Given the description of an element on the screen output the (x, y) to click on. 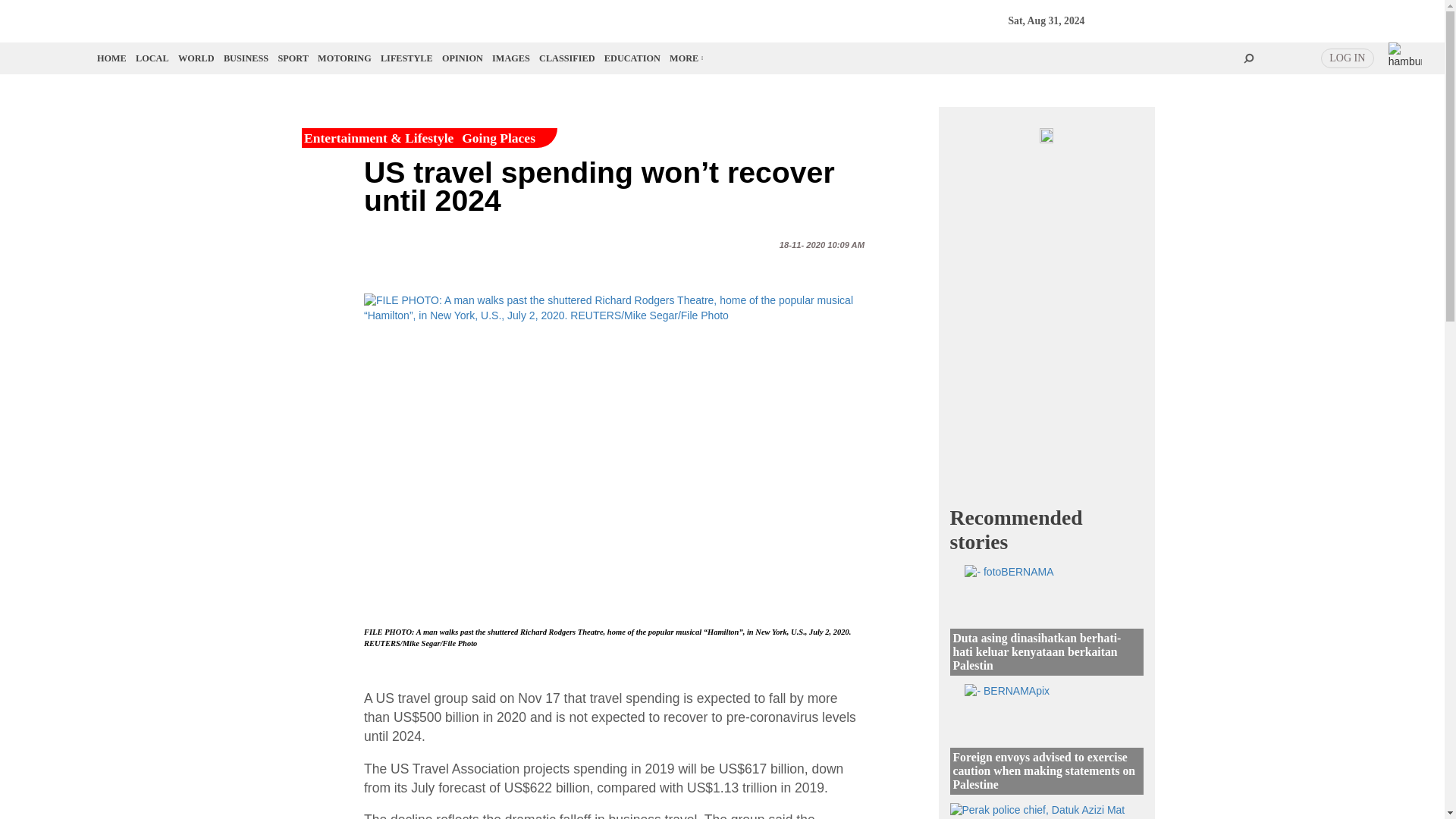
CLASSIFIED (566, 57)
Home (111, 57)
LOCAL (151, 57)
EDUCATION (632, 57)
LOG IN (1347, 57)
HOME (111, 57)
LOG IN (1347, 57)
OPINION (462, 57)
Business (245, 57)
LIFESTYLE (406, 57)
